Given the description of an element on the screen output the (x, y) to click on. 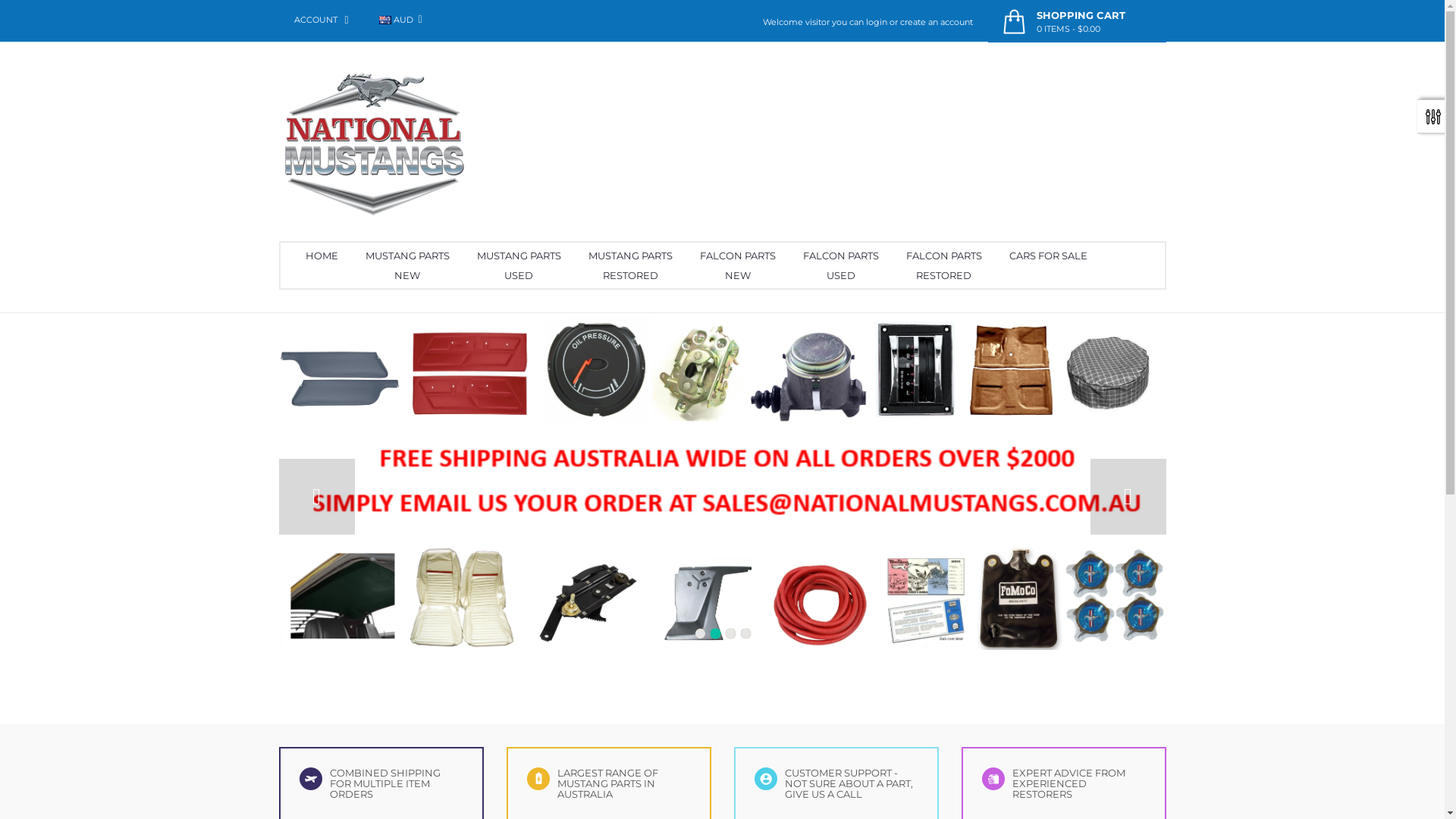
FALCON PARTS
RESTORED Element type: text (942, 265)
Next Element type: text (1128, 496)
1 Element type: text (698, 633)
FALCON PARTS
NEW Element type: text (736, 265)
2 Element type: text (713, 633)
MUSTANG PARTS
USED Element type: text (518, 265)
LARGEST RANGE OF MUSTANG PARTS IN AUSTRALIA Element type: hover (537, 778)
3 Element type: text (729, 633)
EXPERT ADVICE FROM EXPERIENCED RESTORERS Element type: hover (992, 778)
MUSTANG PARTS
NEW Element type: text (407, 265)
HOME Element type: text (321, 255)
login Element type: text (876, 21)
Customer Support - NOT SURE ABOUT A PART, GIVE US A CALL Element type: hover (764, 778)
create an account Element type: text (935, 21)
COMBINED SHIPPING FOR MULTIPLE ITEM ORDERS Element type: hover (309, 778)
CARS FOR SALE Element type: text (1047, 255)
FALCON PARTS
USED Element type: text (839, 265)
MUSTANG PARTS
RESTORED Element type: text (630, 265)
4 Element type: text (744, 633)
Prev Element type: text (316, 496)
